Given the description of an element on the screen output the (x, y) to click on. 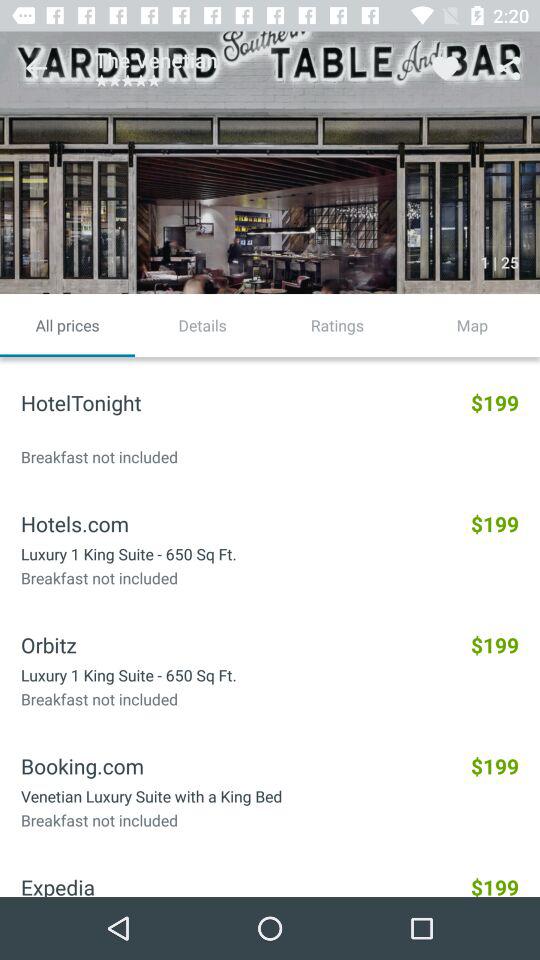
select the ratings icon (337, 325)
